Given the description of an element on the screen output the (x, y) to click on. 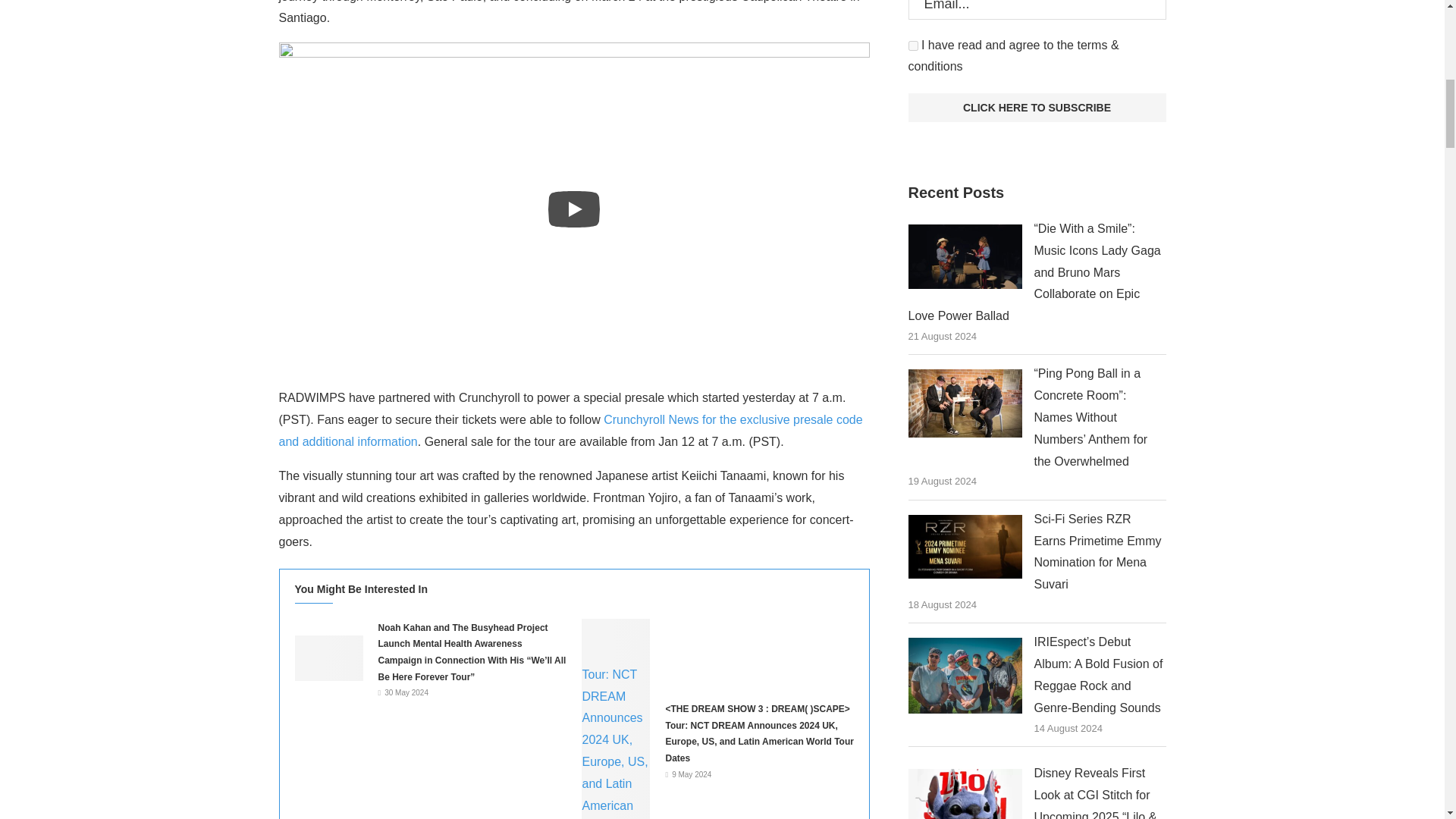
1 (913, 45)
Click here to subscribe (1037, 107)
